Given the description of an element on the screen output the (x, y) to click on. 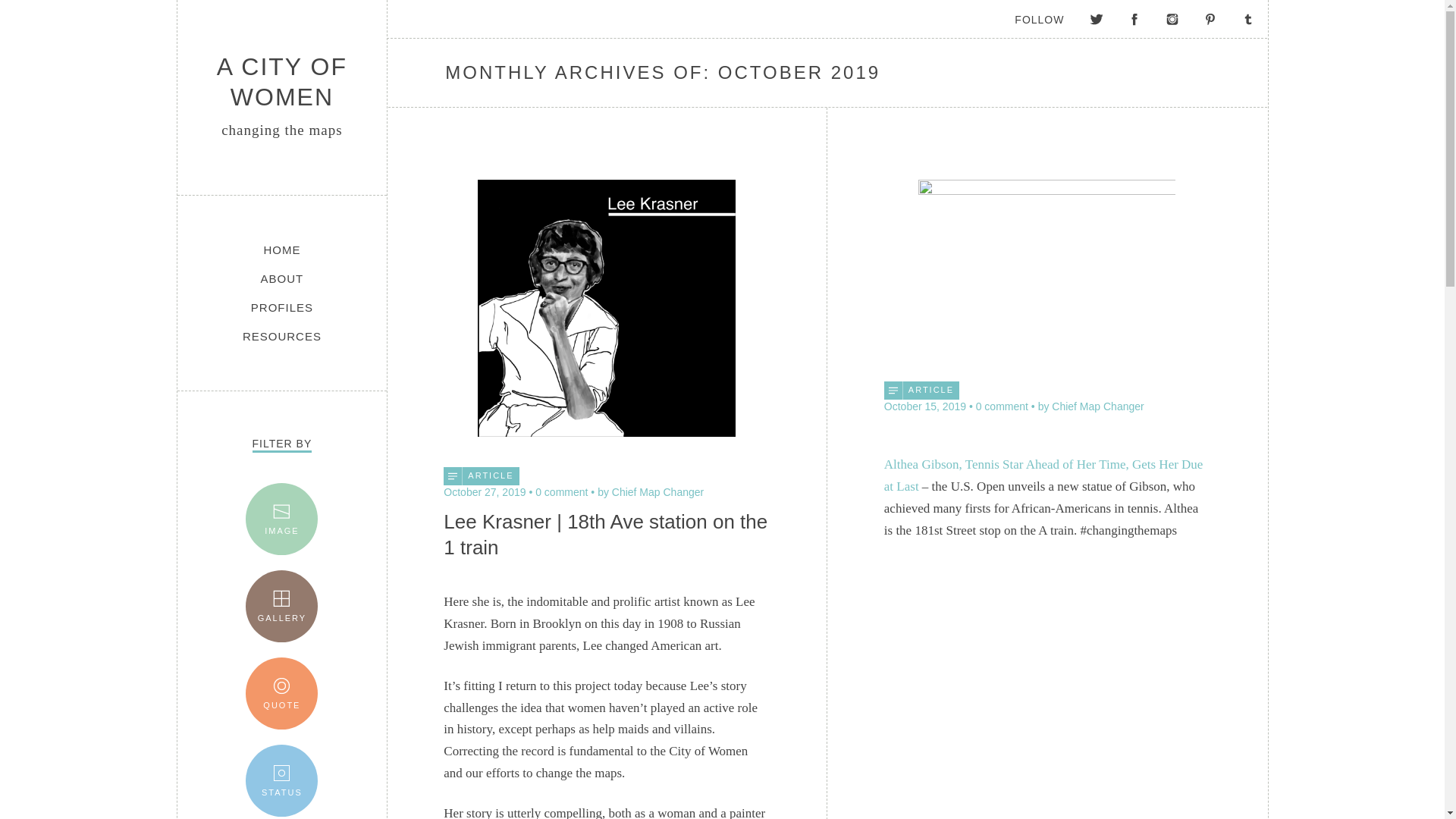
Permalink to  (1046, 190)
QUOTE (281, 693)
All posts by Chief Map Changer (1091, 406)
Tumblr (1247, 18)
All posts by Chief Map Changer (649, 491)
A City of Women (281, 81)
Twitter (1096, 18)
IMAGE (281, 519)
STATUS (281, 780)
Pinterest (1209, 18)
